Given the description of an element on the screen output the (x, y) to click on. 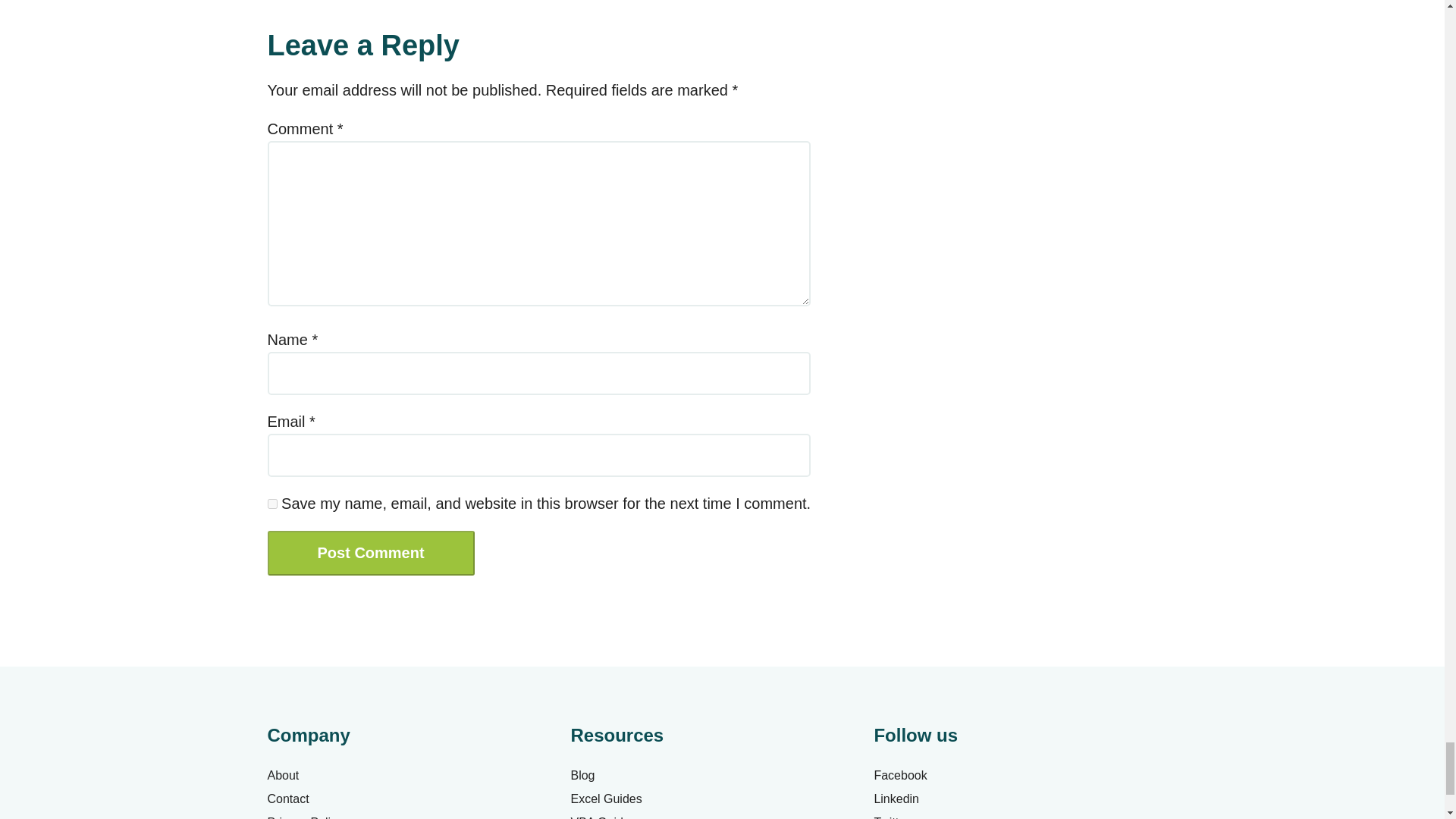
Post Comment (370, 552)
yes (271, 503)
